Given the description of an element on the screen output the (x, y) to click on. 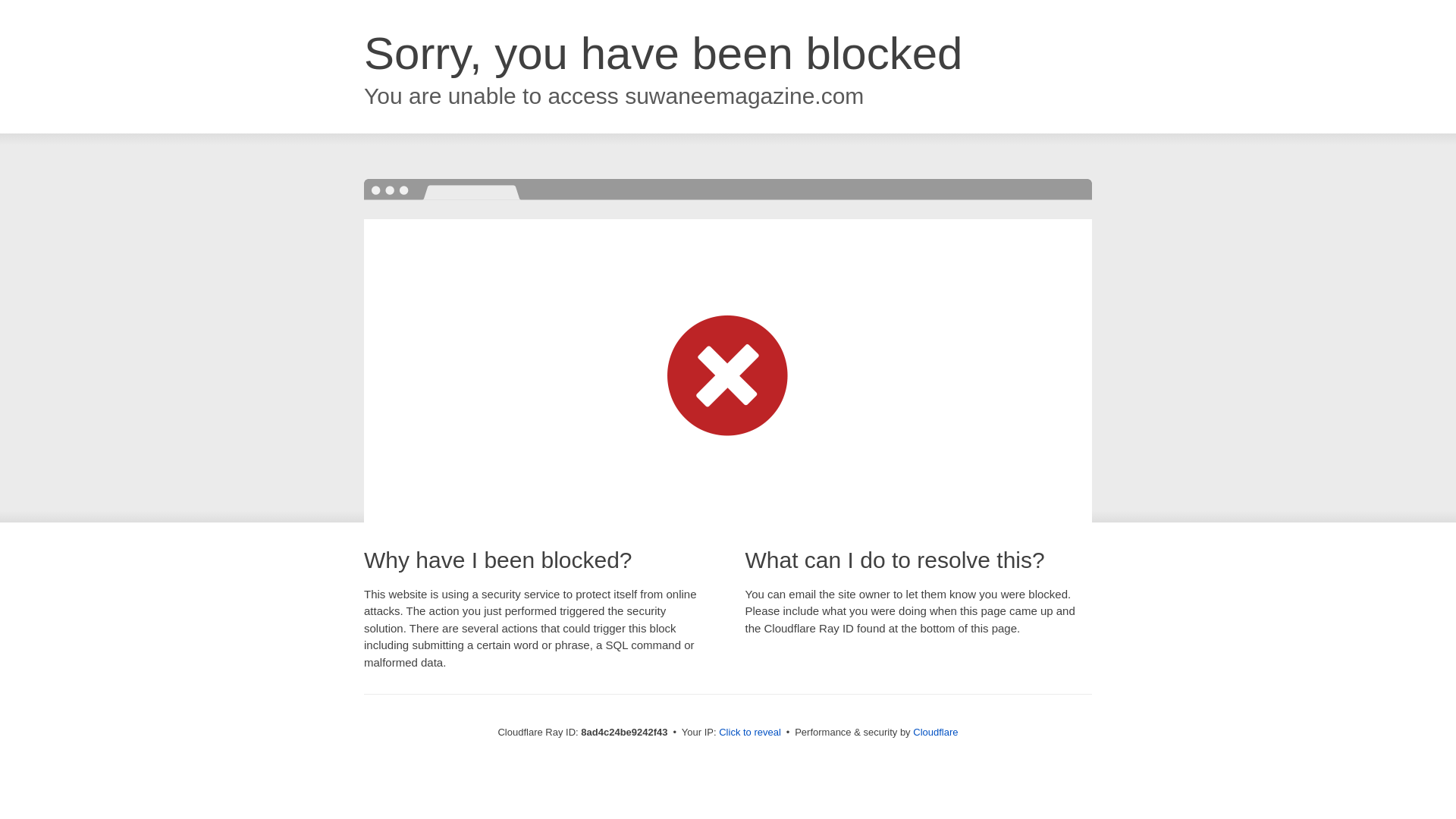
Cloudflare (935, 731)
Click to reveal (749, 732)
